Given the description of an element on the screen output the (x, y) to click on. 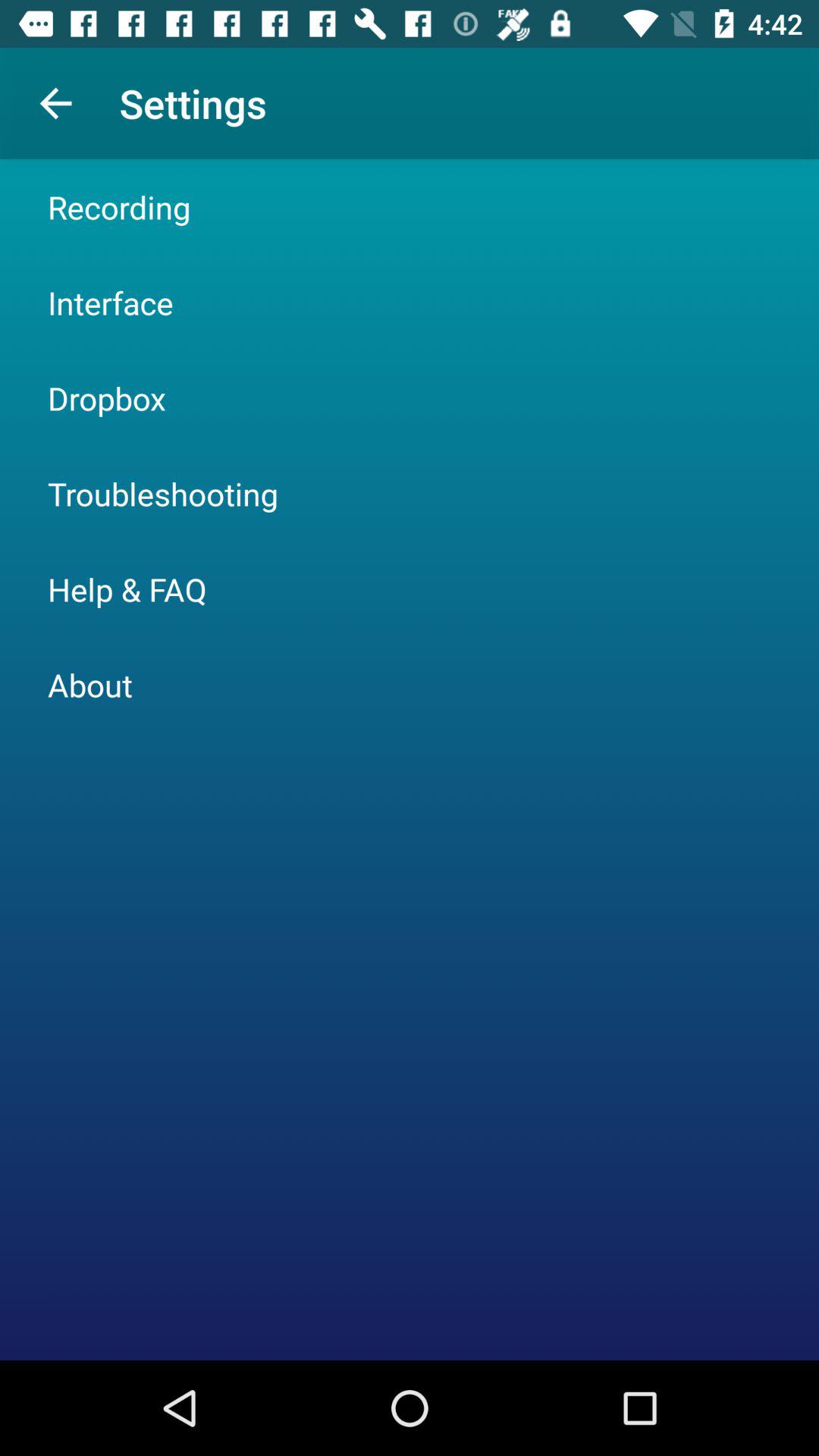
scroll until the about (89, 684)
